Given the description of an element on the screen output the (x, y) to click on. 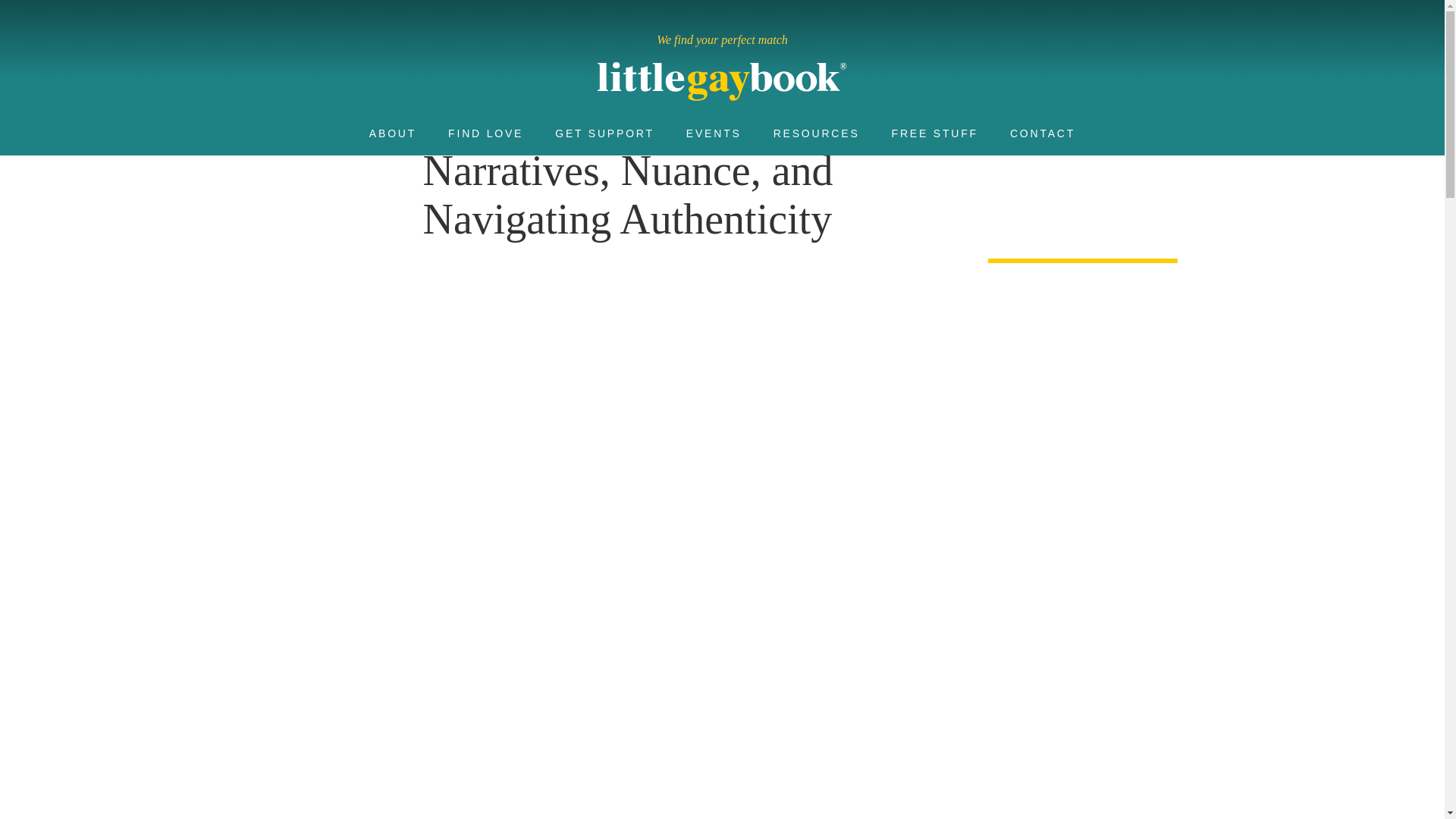
FIND LOVE (485, 139)
CONTACT (1042, 139)
ABOUT (392, 139)
RESOURCES (816, 139)
FREE STUFF (935, 139)
Little Gay Book (193, 122)
GET SUPPORT (603, 139)
EVENTS (713, 139)
